Given the description of an element on the screen output the (x, y) to click on. 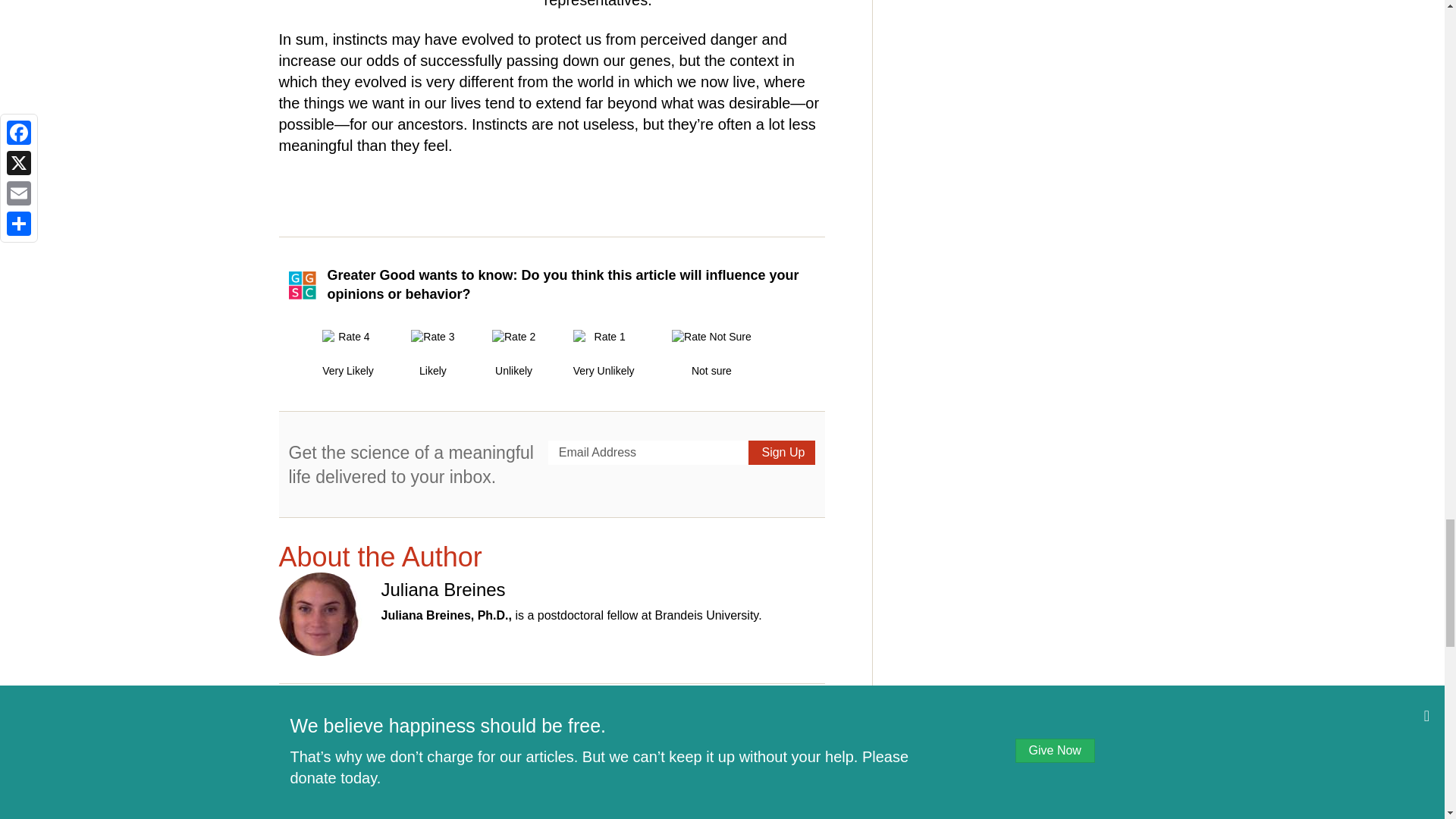
Sign Up (781, 452)
Rate Unlikely (513, 354)
Rate Very Likely (347, 354)
Rate Not Sure (711, 354)
Rate Likely (432, 354)
Rate Very Unlikely (603, 354)
